Given the description of an element on the screen output the (x, y) to click on. 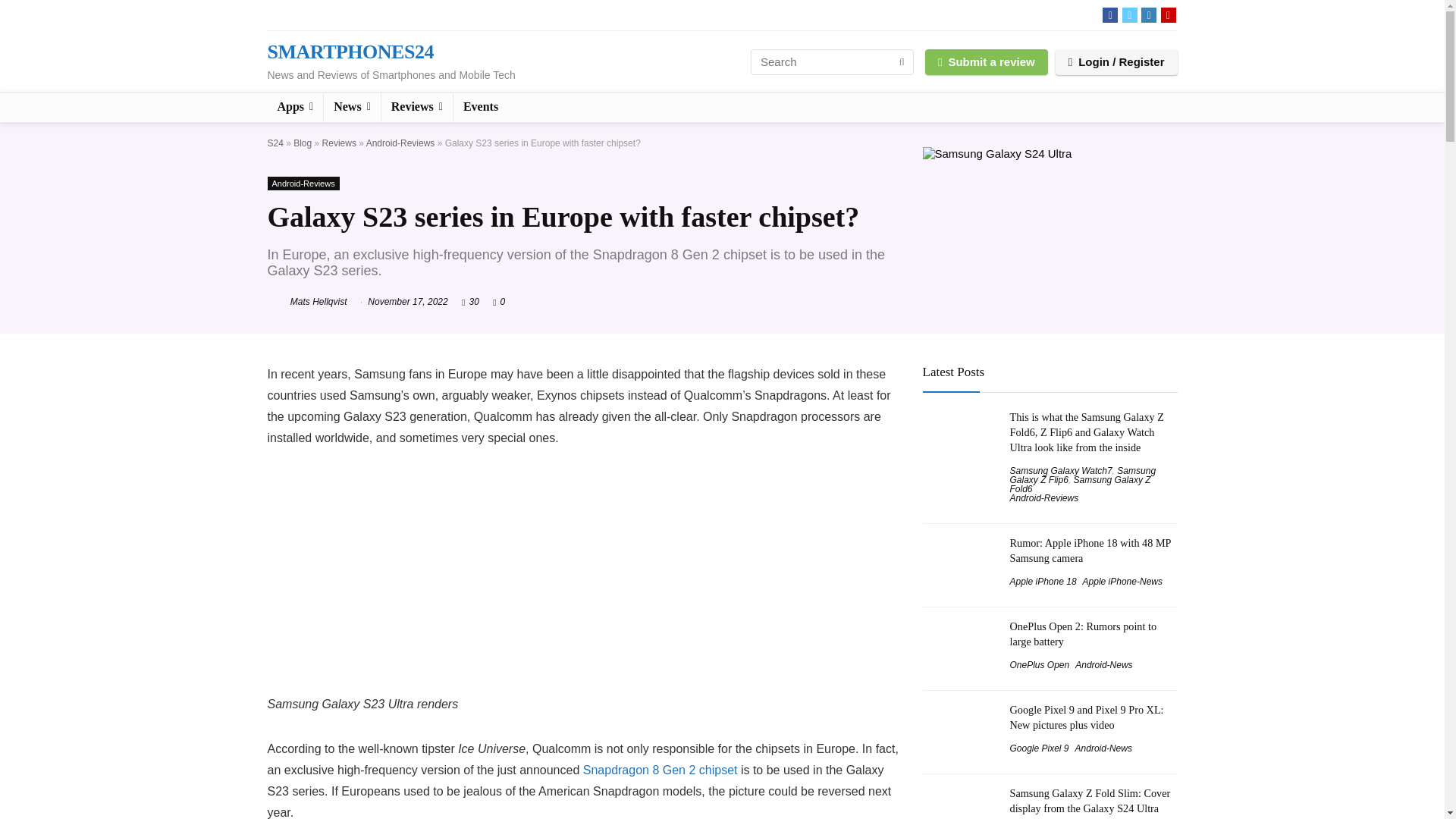
Instagramm (1148, 14)
Reviews (338, 143)
twitter (1129, 14)
Android-Reviews (302, 183)
Mats Hellqvist (306, 301)
Youtube (1167, 14)
0 (502, 301)
Apps (294, 107)
Submit a review (986, 61)
Android-Reviews (400, 143)
Events (480, 107)
Blog (302, 143)
Facebook (1110, 14)
Reviews (416, 107)
Snapdragon 8 Gen 2 chipset (660, 769)
